Given the description of an element on the screen output the (x, y) to click on. 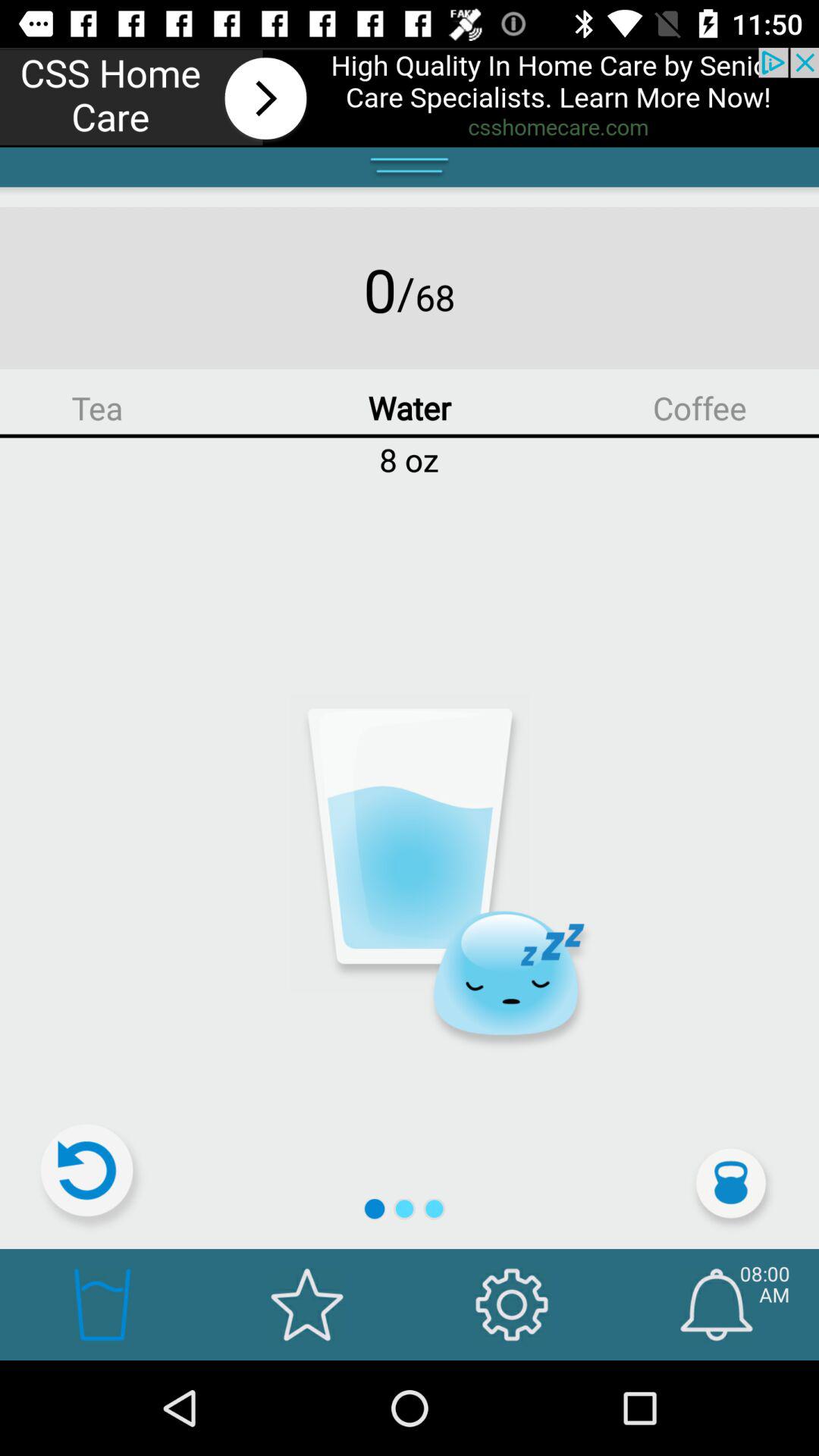
refresh screen (93, 1177)
